Given the description of an element on the screen output the (x, y) to click on. 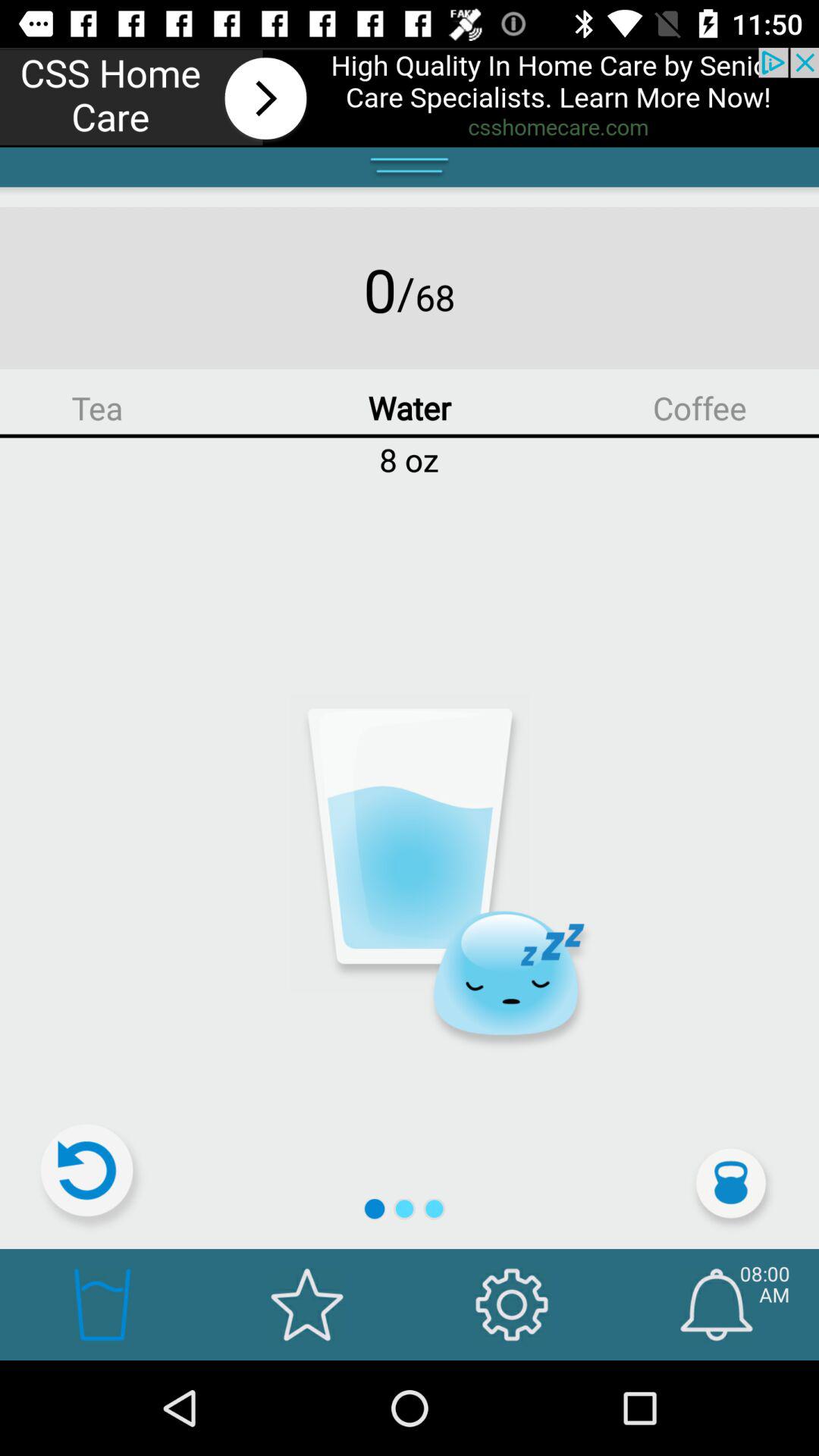
refresh screen (93, 1177)
